Given the description of an element on the screen output the (x, y) to click on. 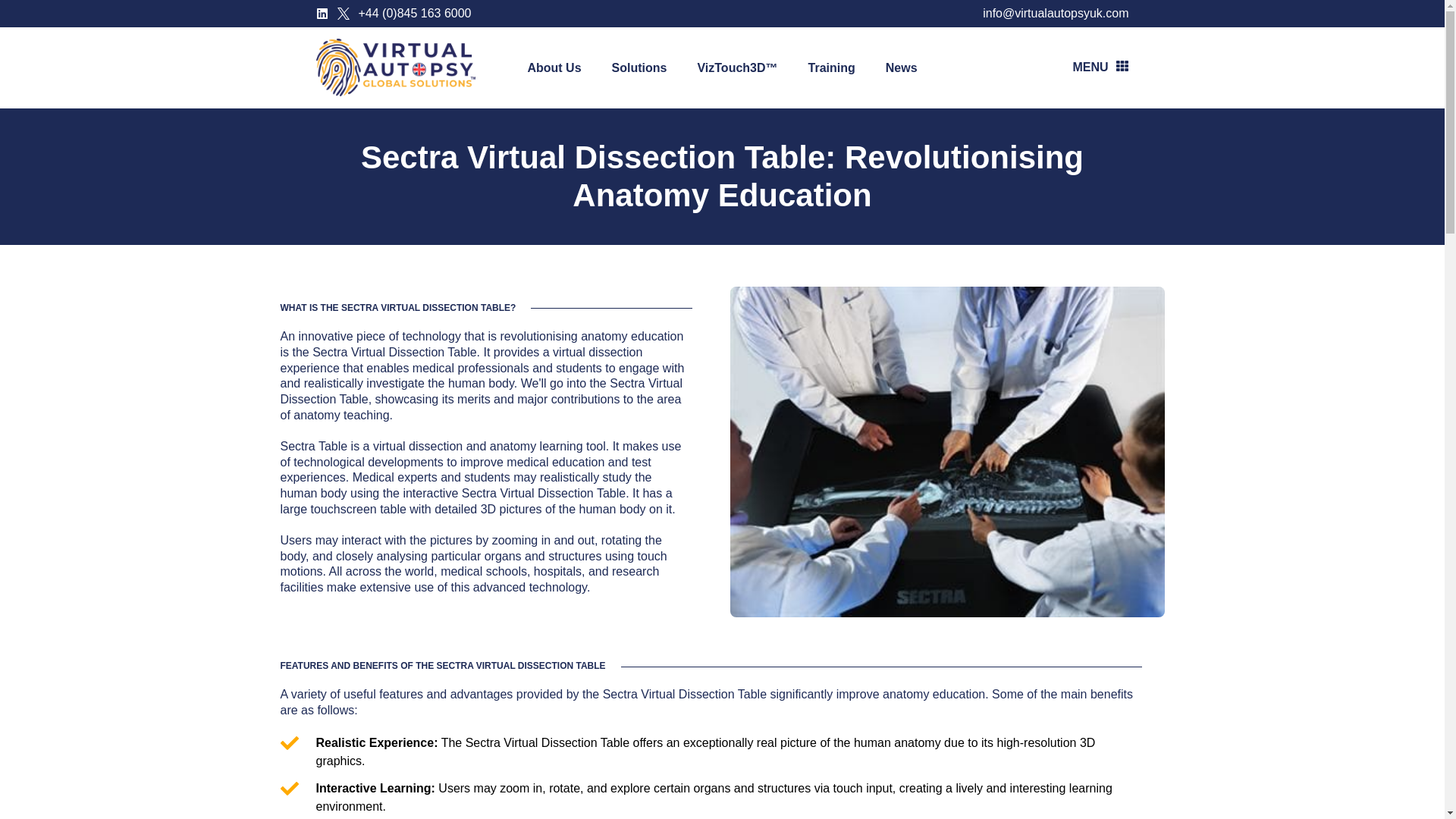
Solutions (639, 67)
About Us (553, 67)
MENU (1095, 67)
Training (831, 67)
News (901, 67)
